Given the description of an element on the screen output the (x, y) to click on. 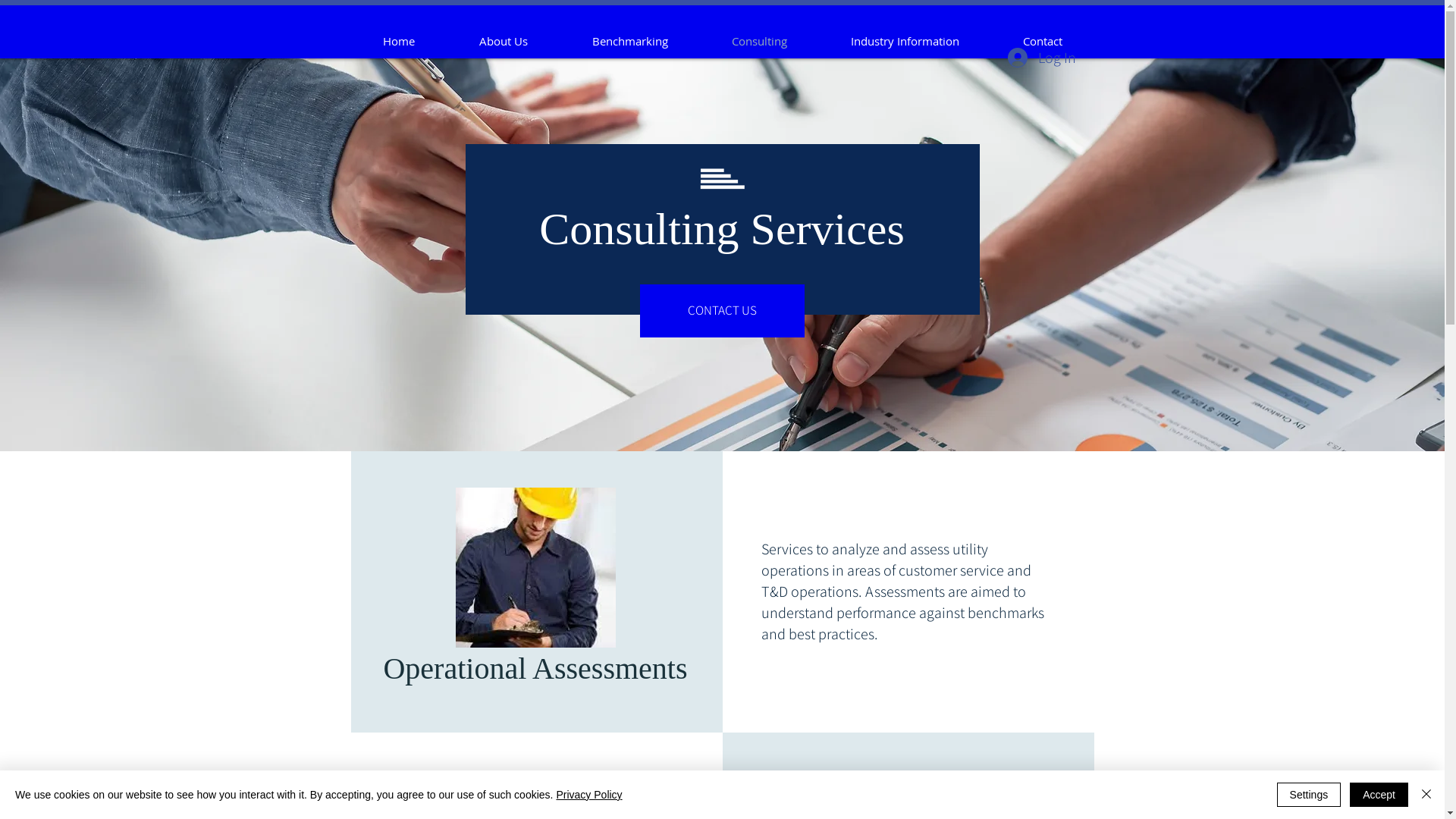
Consulting Element type: text (758, 41)
Log In Element type: text (1040, 57)
Privacy Policy Element type: text (588, 794)
Contact Element type: text (1041, 41)
Settings Element type: text (1309, 794)
Home Element type: text (398, 41)
Accept Element type: text (1378, 794)
CONTACT US Element type: text (722, 310)
